Given the description of an element on the screen output the (x, y) to click on. 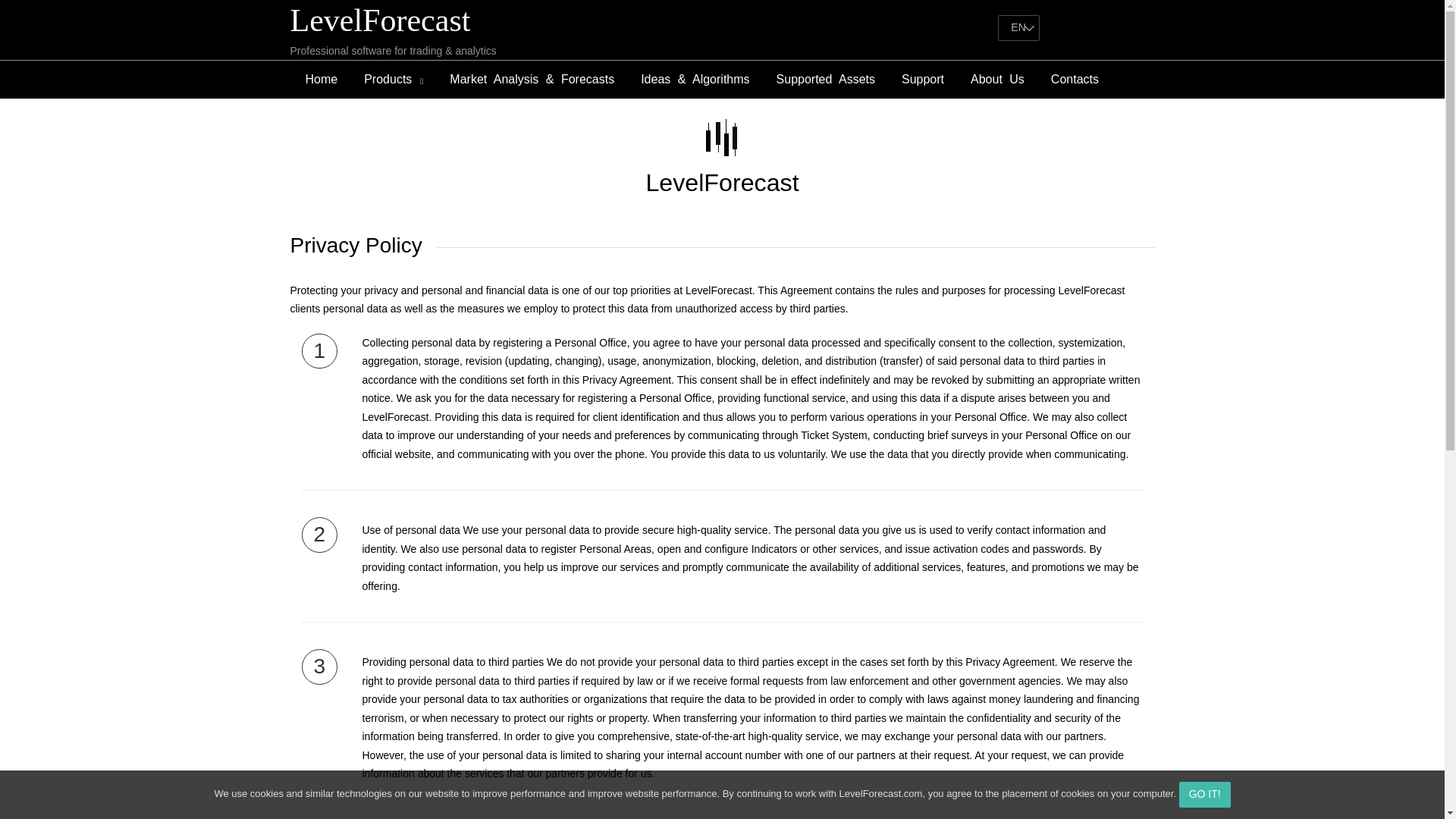
Support (922, 78)
Contacts (1074, 78)
Products (392, 78)
Home (321, 78)
Supported Assets (825, 78)
About Us (997, 78)
GO IT! (1204, 794)
